Given the description of an element on the screen output the (x, y) to click on. 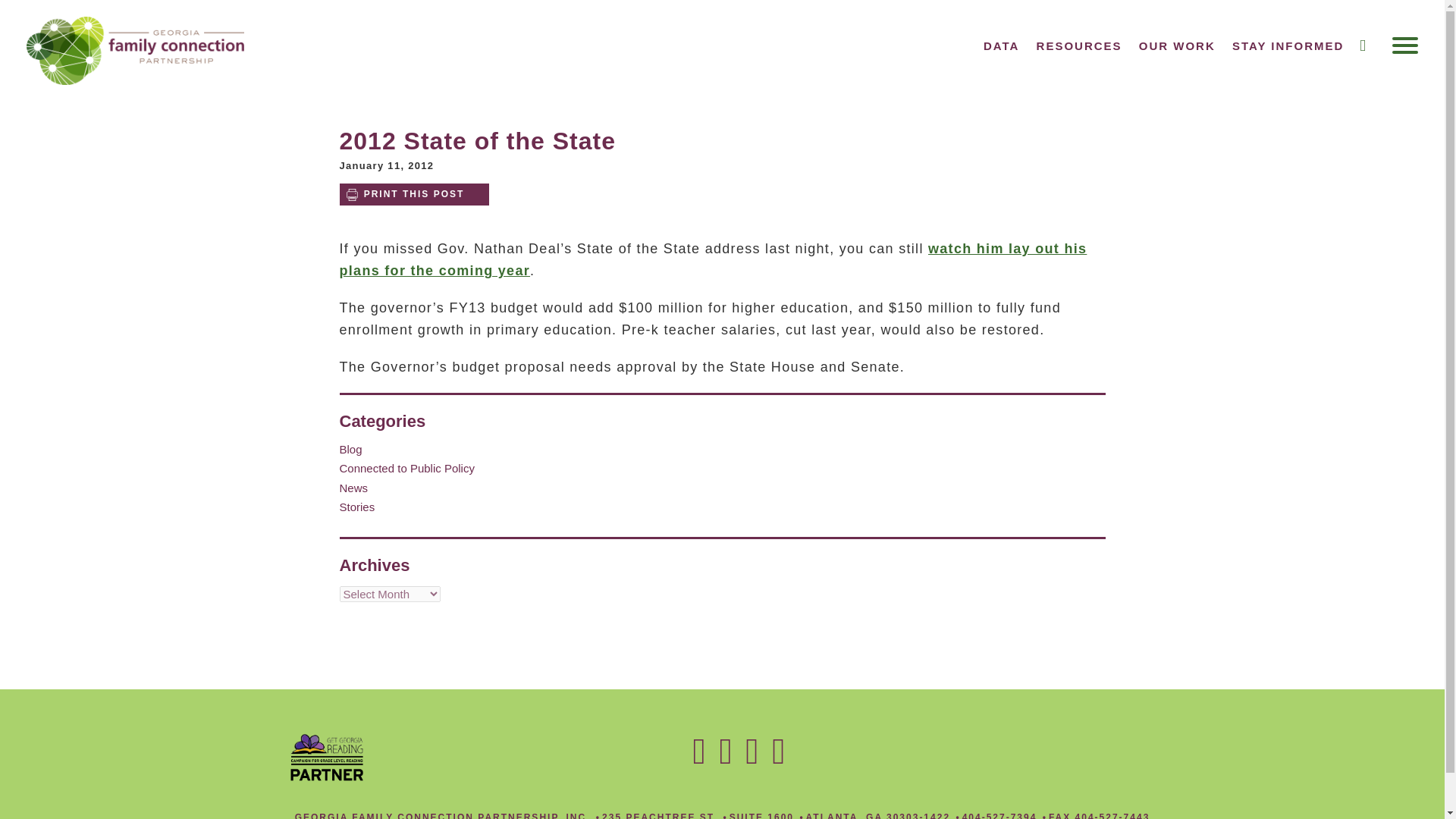
Resources (1079, 45)
STAY INFORMED (1287, 45)
Our Work (1176, 45)
STAY INFORMED (1287, 45)
RESOURCES (1079, 45)
Data (1001, 45)
DATA (1001, 45)
OUR WORK (1176, 45)
